Given the description of an element on the screen output the (x, y) to click on. 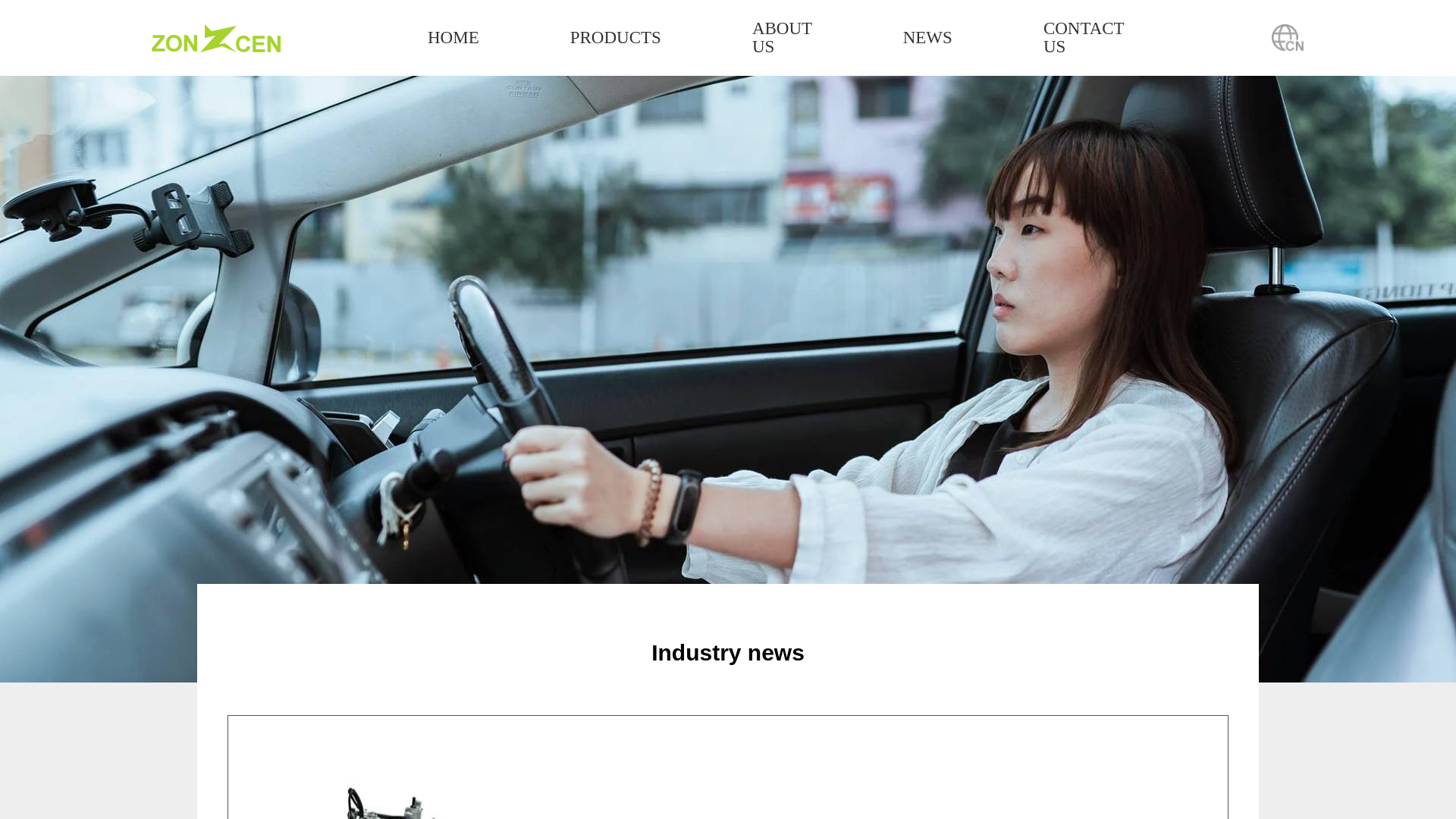
ABOUT US (782, 37)
PRODUCTS (615, 37)
CONTACT US (1083, 37)
HOME (453, 37)
NEWS (927, 37)
